Given the description of an element on the screen output the (x, y) to click on. 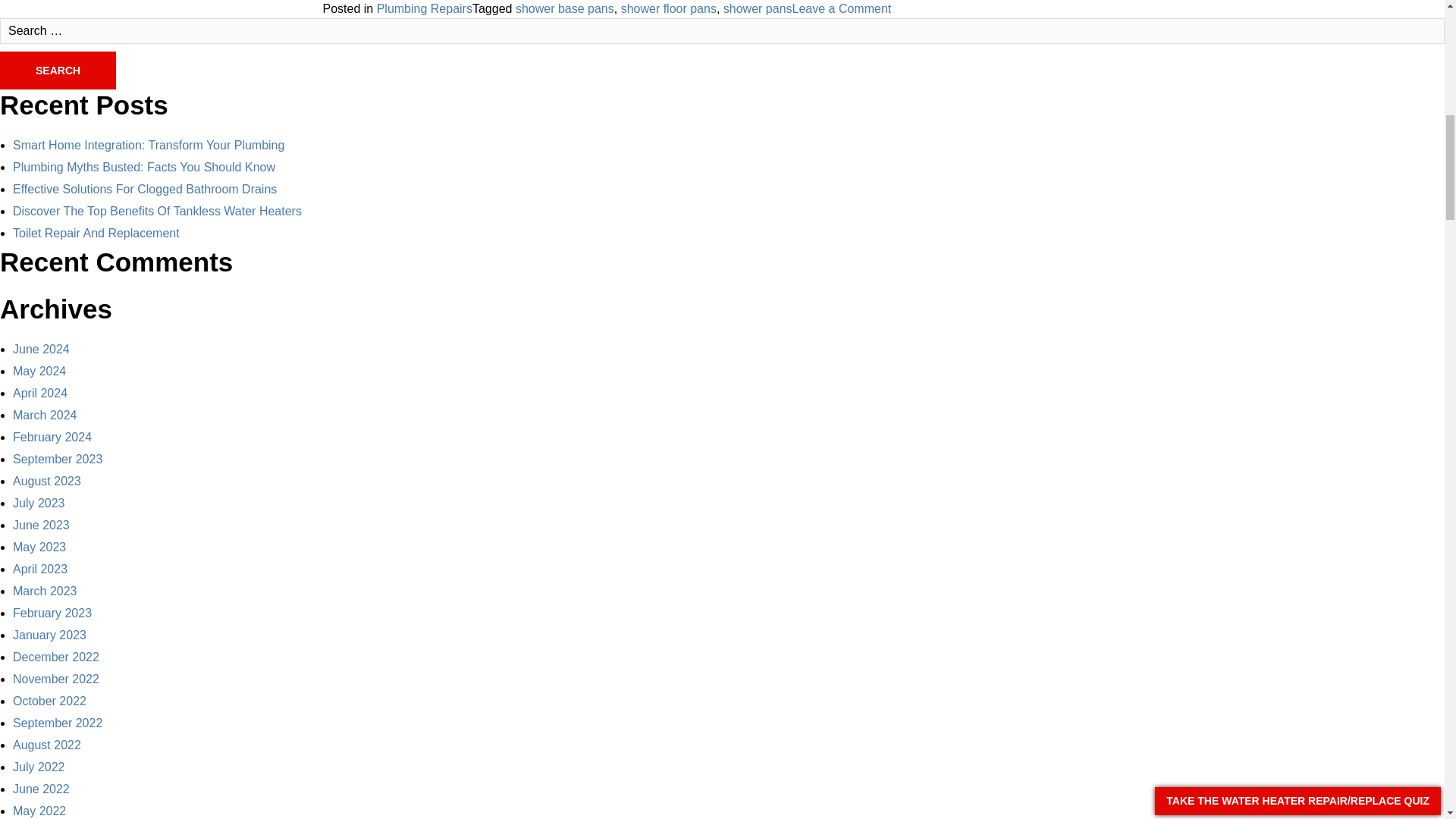
Search (58, 70)
Search (58, 70)
